Given the description of an element on the screen output the (x, y) to click on. 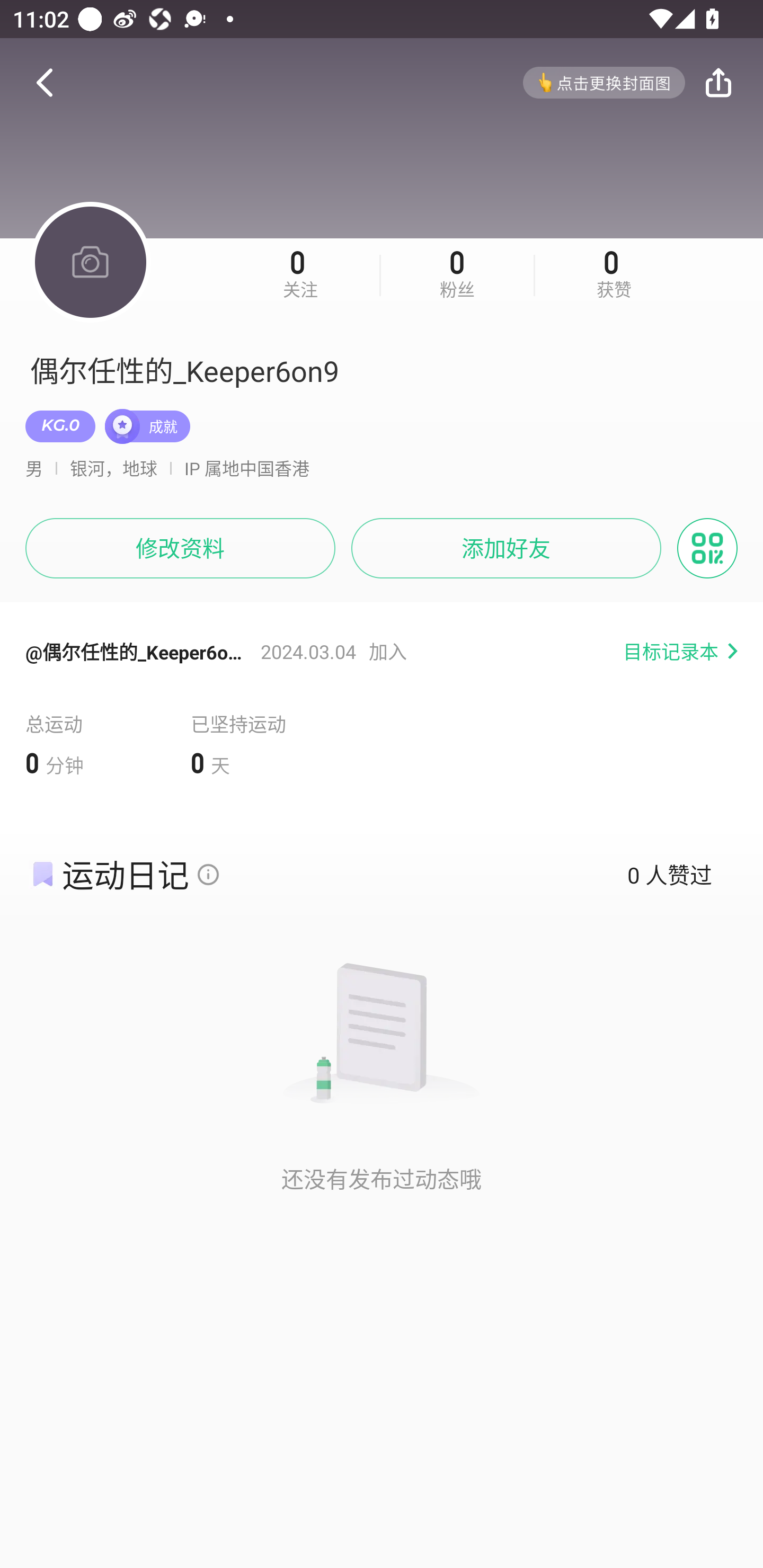
 成就 (147, 426)
KG.0 (60, 426)
修改资料 (180, 547)
添加好友 (505, 547)
目标记录本 (683, 651)
